Given the description of an element on the screen output the (x, y) to click on. 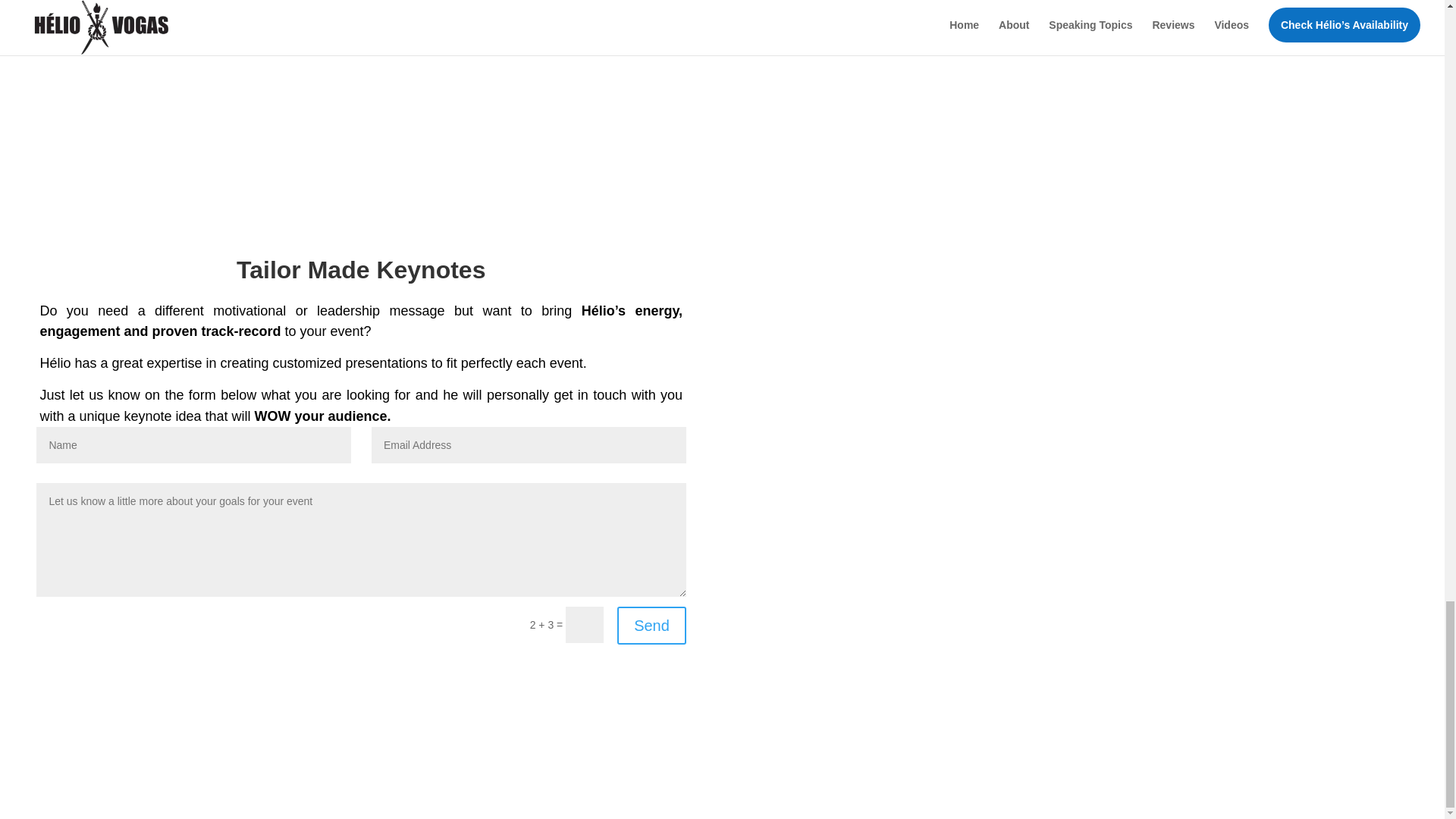
Send (651, 625)
